Given the description of an element on the screen output the (x, y) to click on. 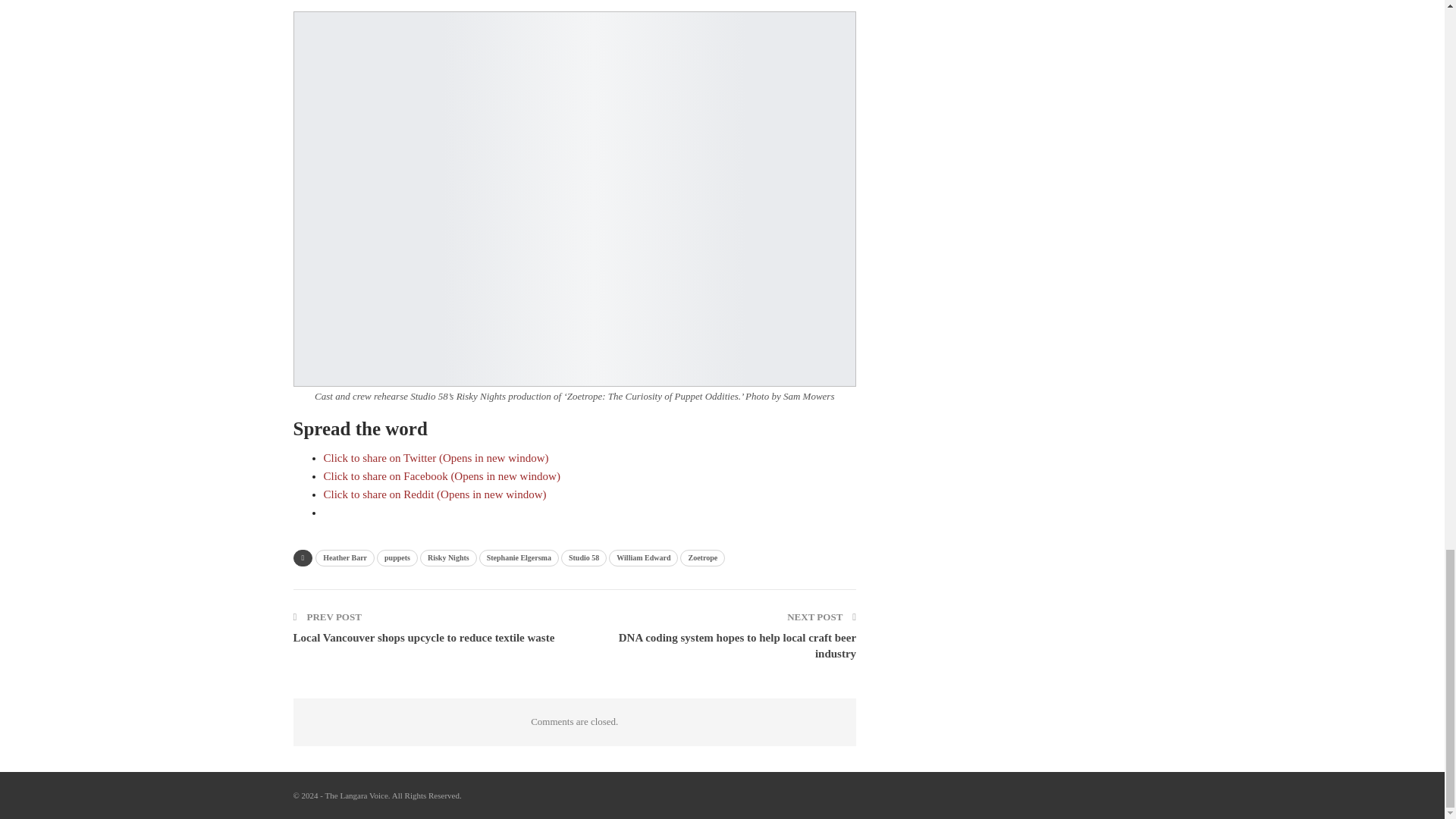
puppets (397, 557)
Heather Barr (344, 557)
Click to share on Facebook (441, 476)
Click to share on Twitter (435, 458)
Zoetrope (702, 557)
Stephanie Elgersma (519, 557)
Local Vancouver shops upcycle to reduce textile waste (423, 637)
William Edward (643, 557)
Click to share on Reddit (434, 494)
Studio 58 (583, 557)
